Given the description of an element on the screen output the (x, y) to click on. 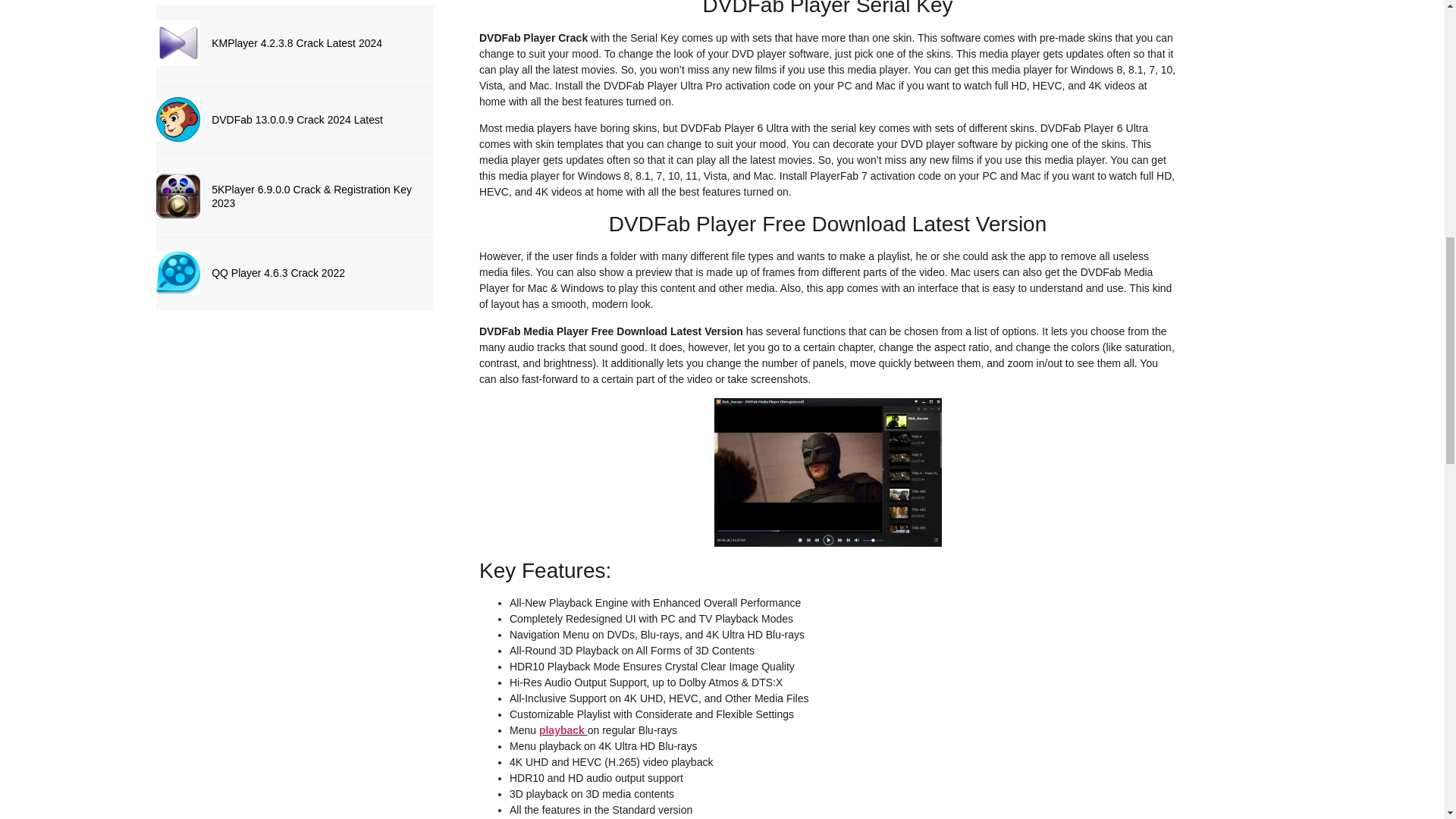
KMPlayer 4.2.3.8 Crack Latest 2024 (316, 42)
QQ Player 4.6.3 Crack 2022 (316, 273)
DVDFab 13.0.0.9 Crack 2024 Latest (316, 119)
